Given the description of an element on the screen output the (x, y) to click on. 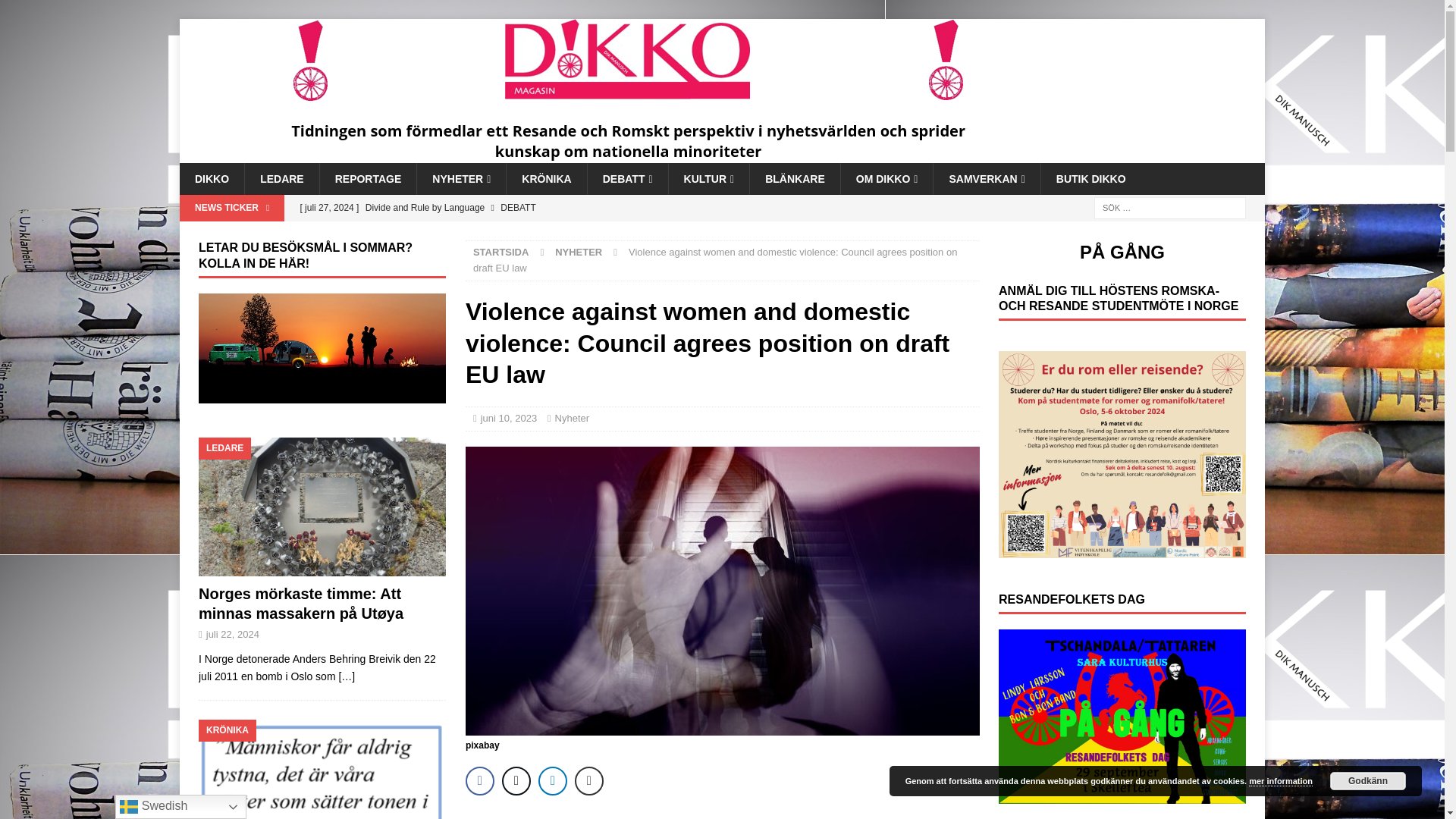
NYHETER (460, 178)
DEBATT (627, 178)
DIKKO (211, 178)
LEDARE (281, 178)
Magasin DIKKO (628, 154)
Divide and Rule by Language (589, 207)
REPORTAGE (367, 178)
